Given the description of an element on the screen output the (x, y) to click on. 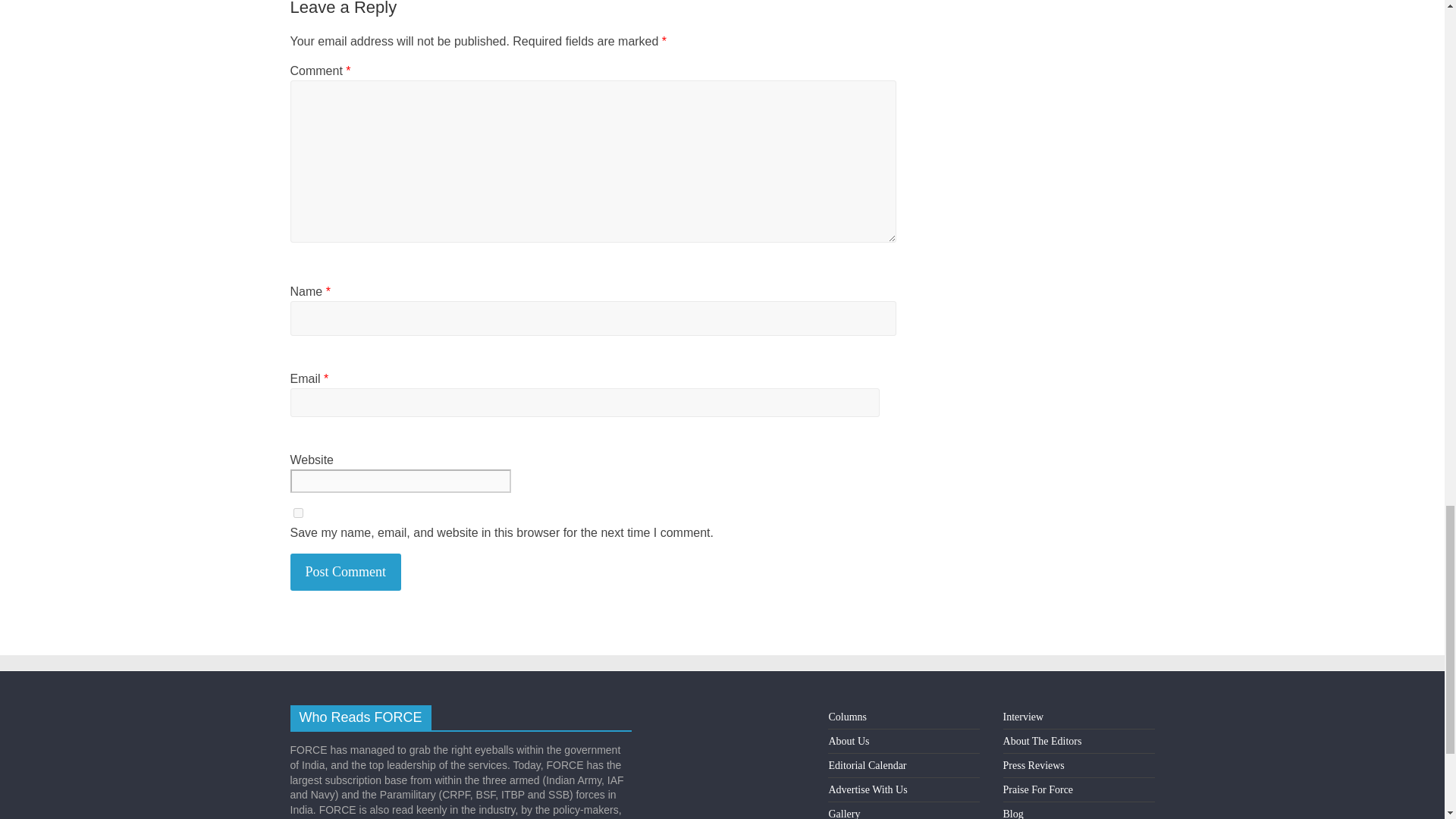
yes (297, 512)
Post Comment (345, 571)
